Given the description of an element on the screen output the (x, y) to click on. 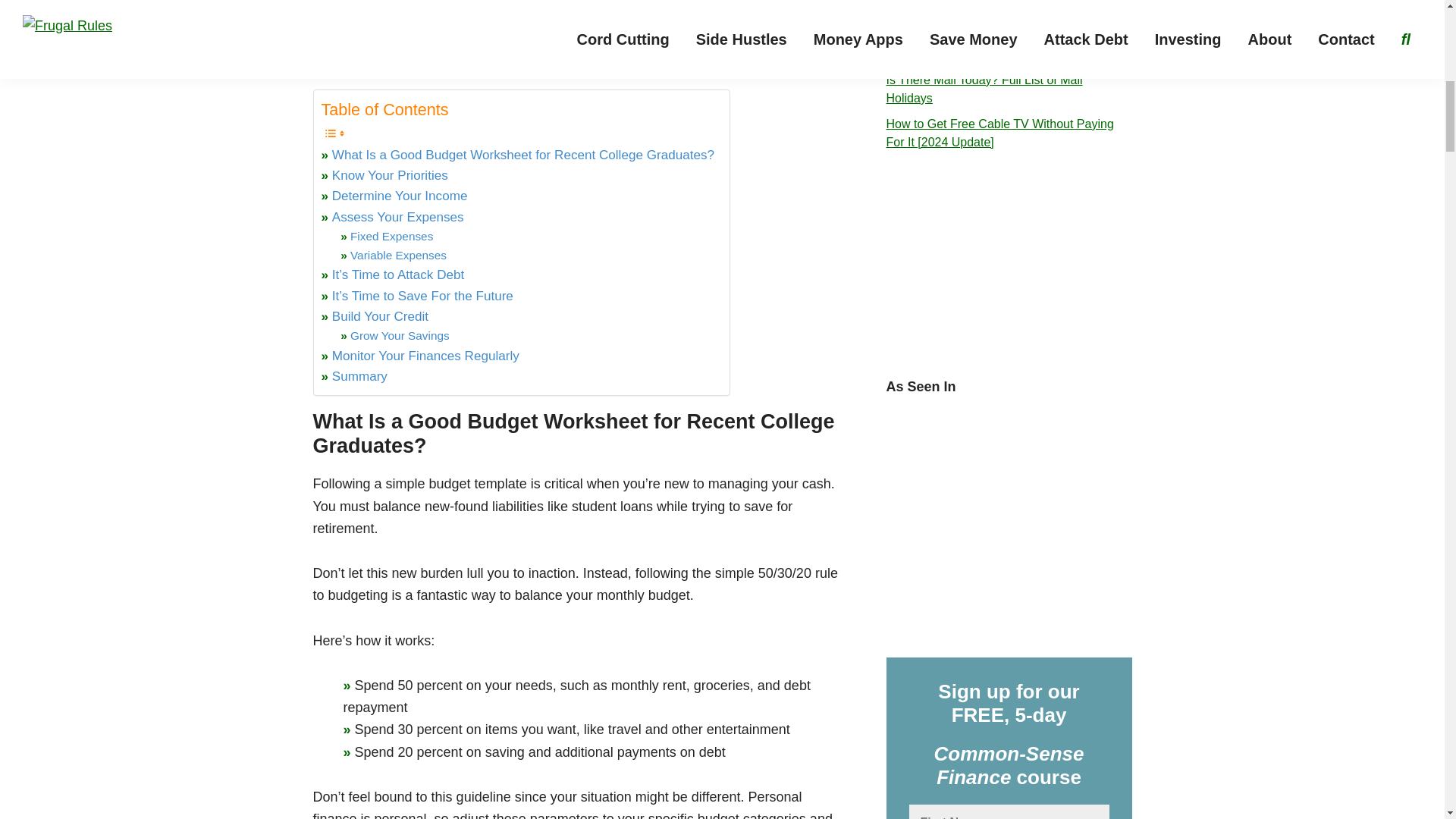
Monitor Your Finances Regularly (425, 355)
Determine Your Income (399, 195)
Know Your Priorities (389, 175)
Summary (359, 376)
Grow Your Savings (399, 335)
Determine Your Income (399, 195)
Fixed Expenses (391, 236)
Assess Your Expenses (397, 217)
Build Your Credit (379, 316)
Know Your Priorities (389, 175)
Variable Expenses (398, 255)
